Given the description of an element on the screen output the (x, y) to click on. 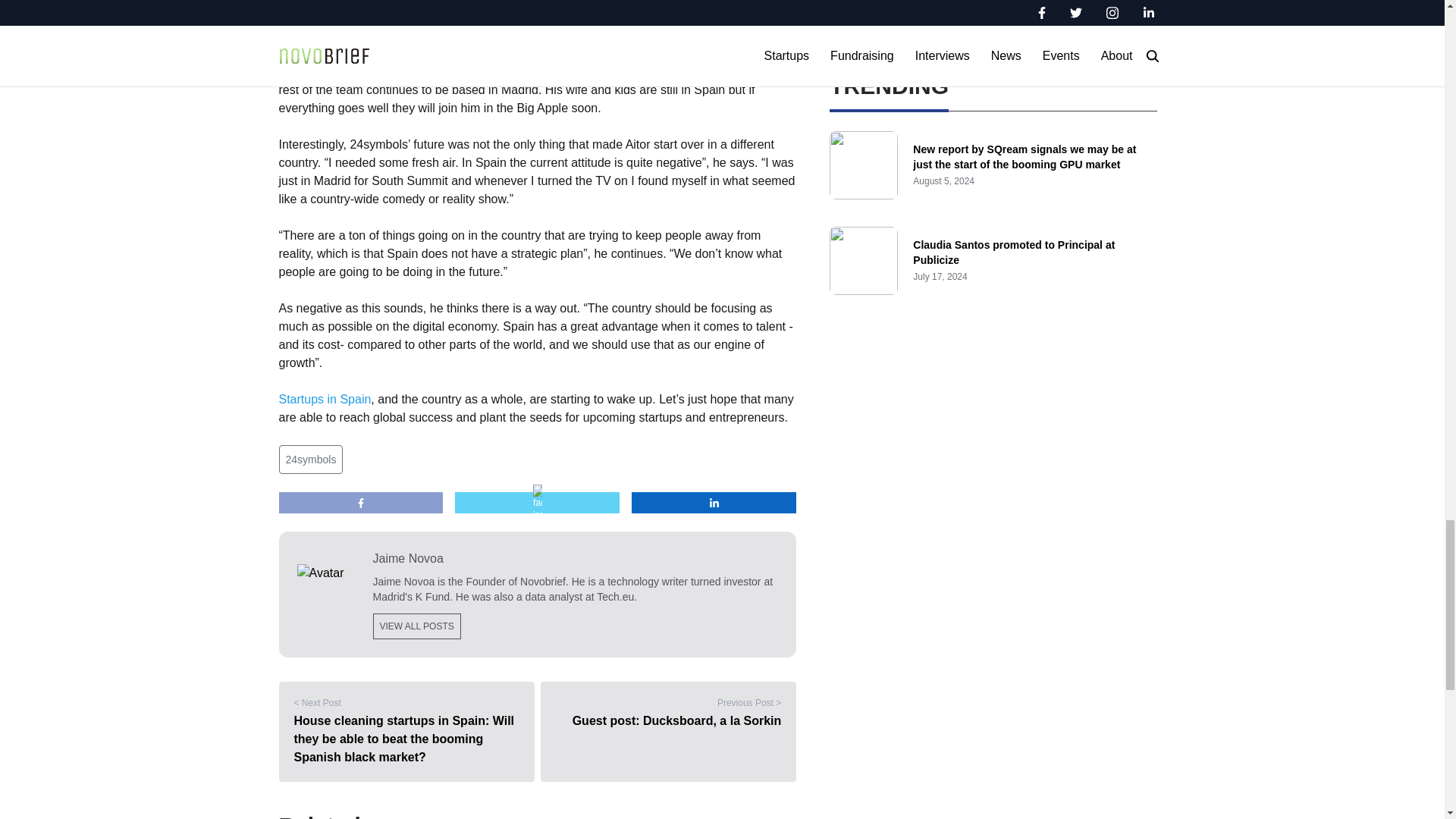
24symbols (311, 459)
Jaime Novoa (403, 581)
Ver en Instagram (537, 26)
Startups in Spain (325, 399)
Jaime Novoa (575, 558)
